Given the description of an element on the screen output the (x, y) to click on. 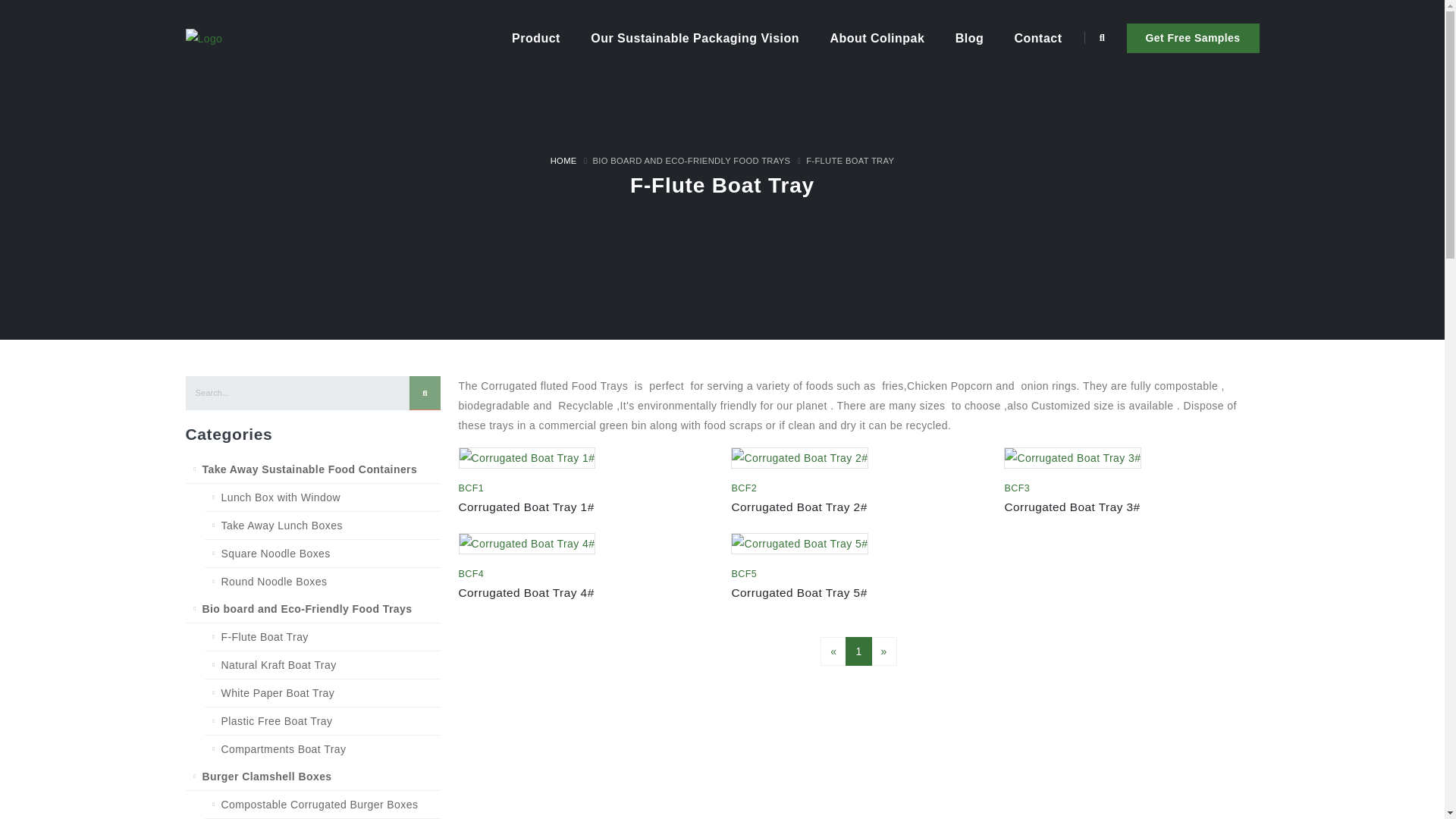
Product (536, 38)
Linkedin (203, 130)
1 (857, 651)
whatsApp (245, 130)
